Given the description of an element on the screen output the (x, y) to click on. 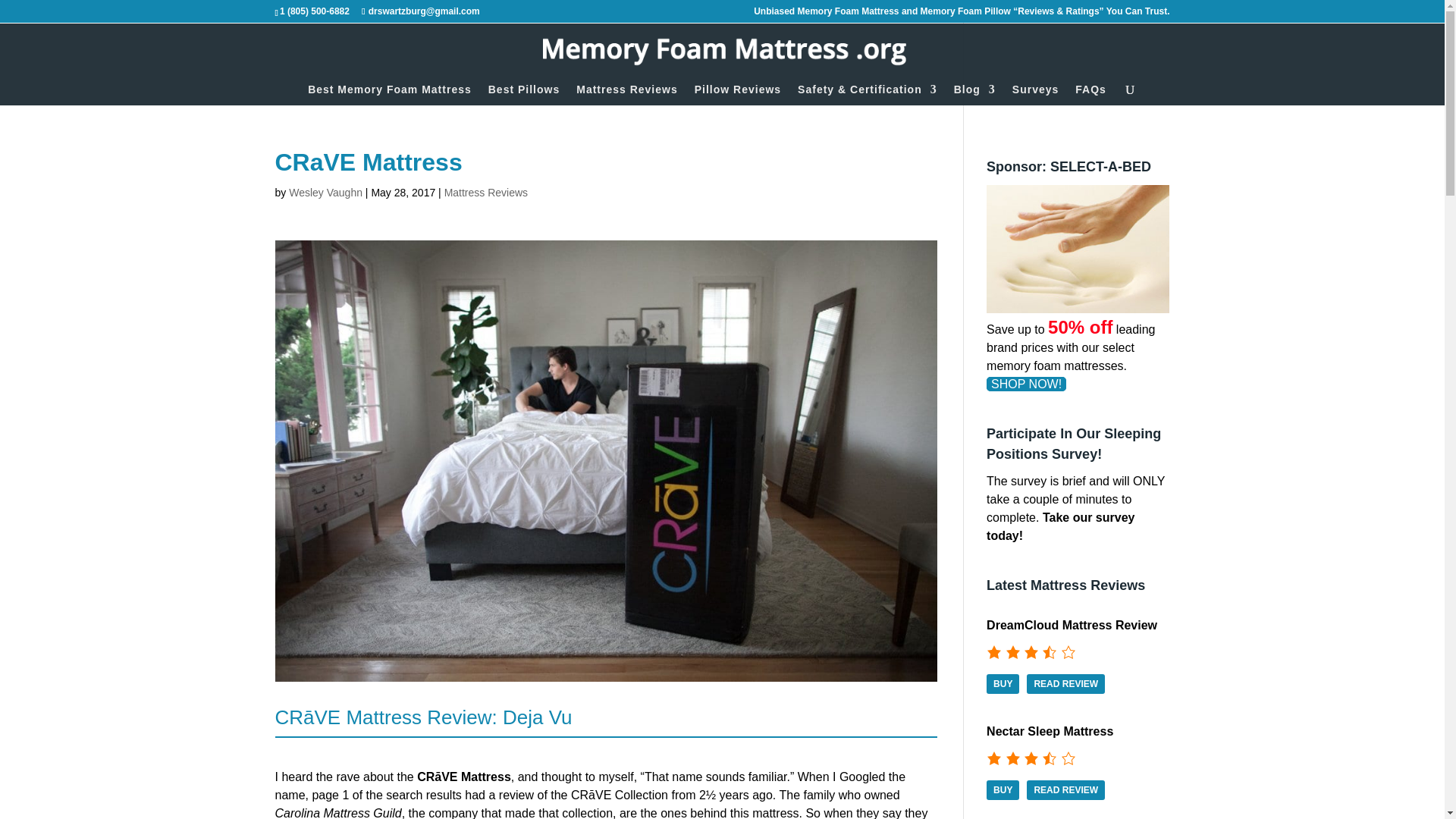
Blog (974, 94)
Pillow Reviews (737, 94)
Mattress Reviews (627, 94)
Best Pillows (523, 94)
Posts by Wesley Vaughn (325, 192)
Surveys (1034, 94)
FAQs (1090, 94)
Best Memory Foam Mattress (389, 94)
